Given the description of an element on the screen output the (x, y) to click on. 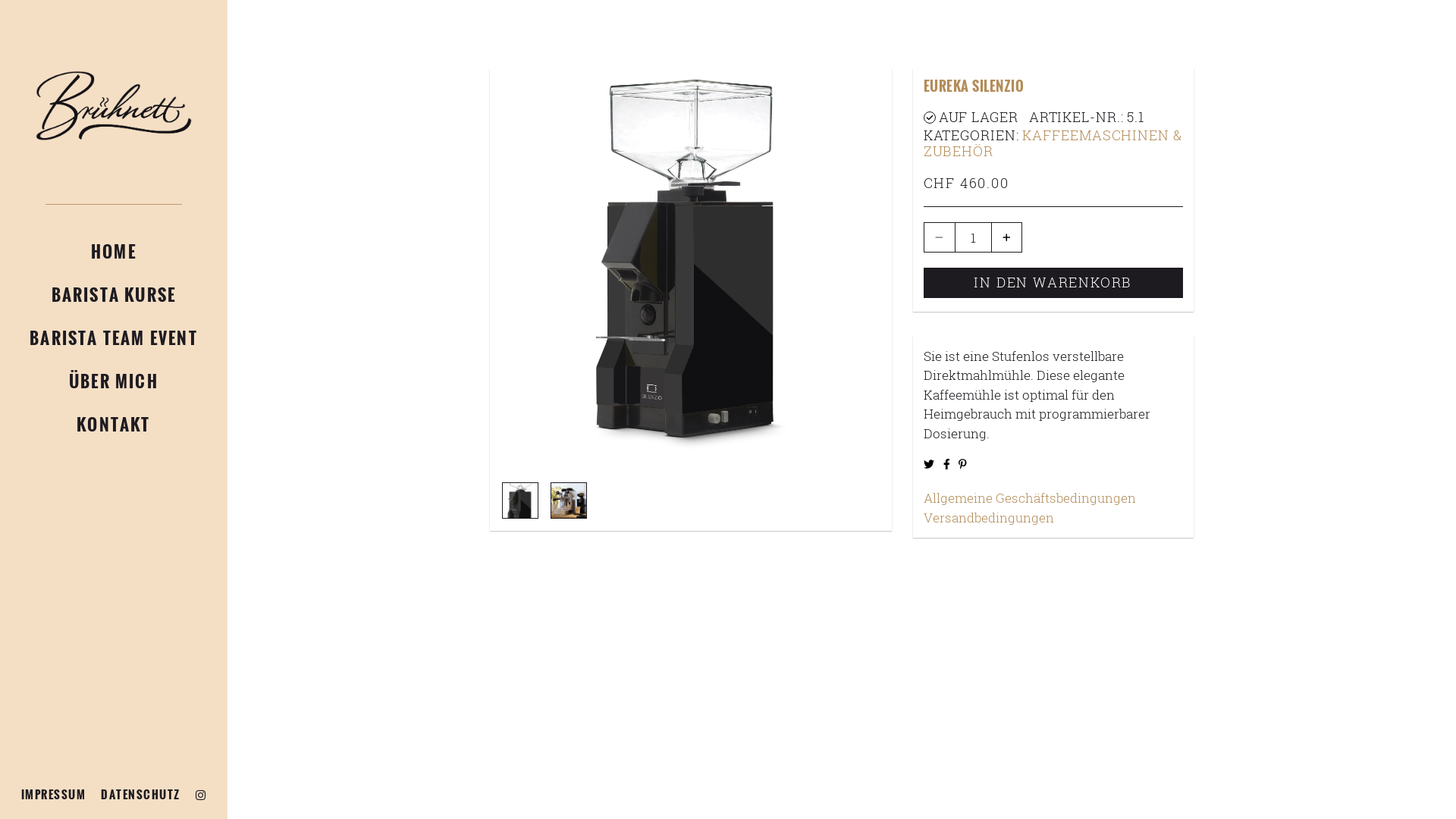
IN DEN WARENKORB Element type: text (1053, 282)
DATENSCHUTZ Element type: text (140, 794)
BARISTA TEAM EVENT Element type: text (113, 336)
KONTAKT Element type: text (113, 423)
Versandbedingungen Element type: text (1053, 517)
BARISTA KURSE Element type: text (113, 294)
IMPRESSUM Element type: text (53, 794)
Auf Lager Element type: hover (929, 116)
HOME Element type: text (113, 250)
